Given the description of an element on the screen output the (x, y) to click on. 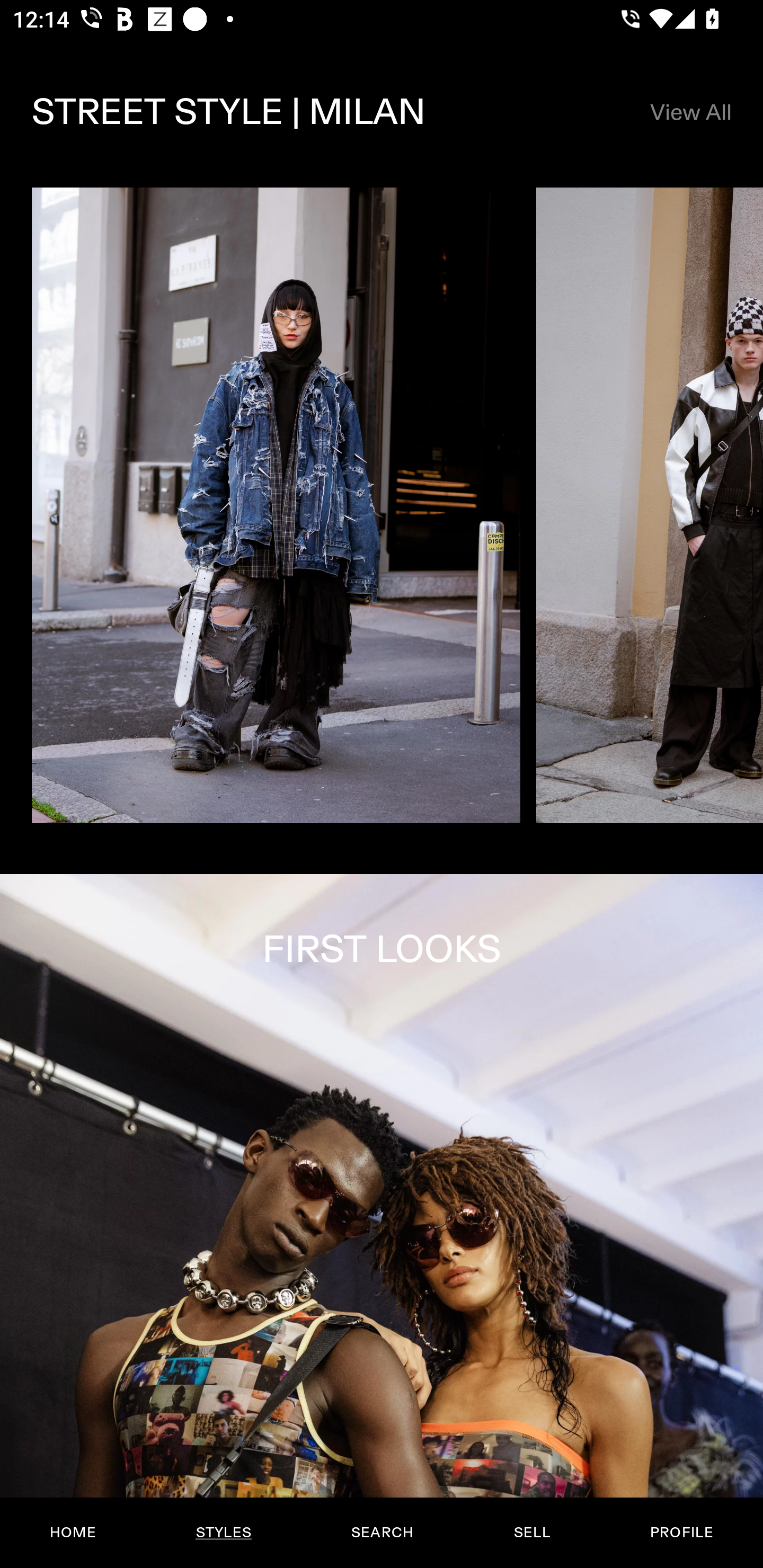
View All (690, 112)
FIRST LOOKS DIESEL FALL '24 (381, 1220)
HOME (72, 1532)
STYLES (222, 1532)
SEARCH (381, 1532)
SELL (531, 1532)
PROFILE (681, 1532)
